Given the description of an element on the screen output the (x, y) to click on. 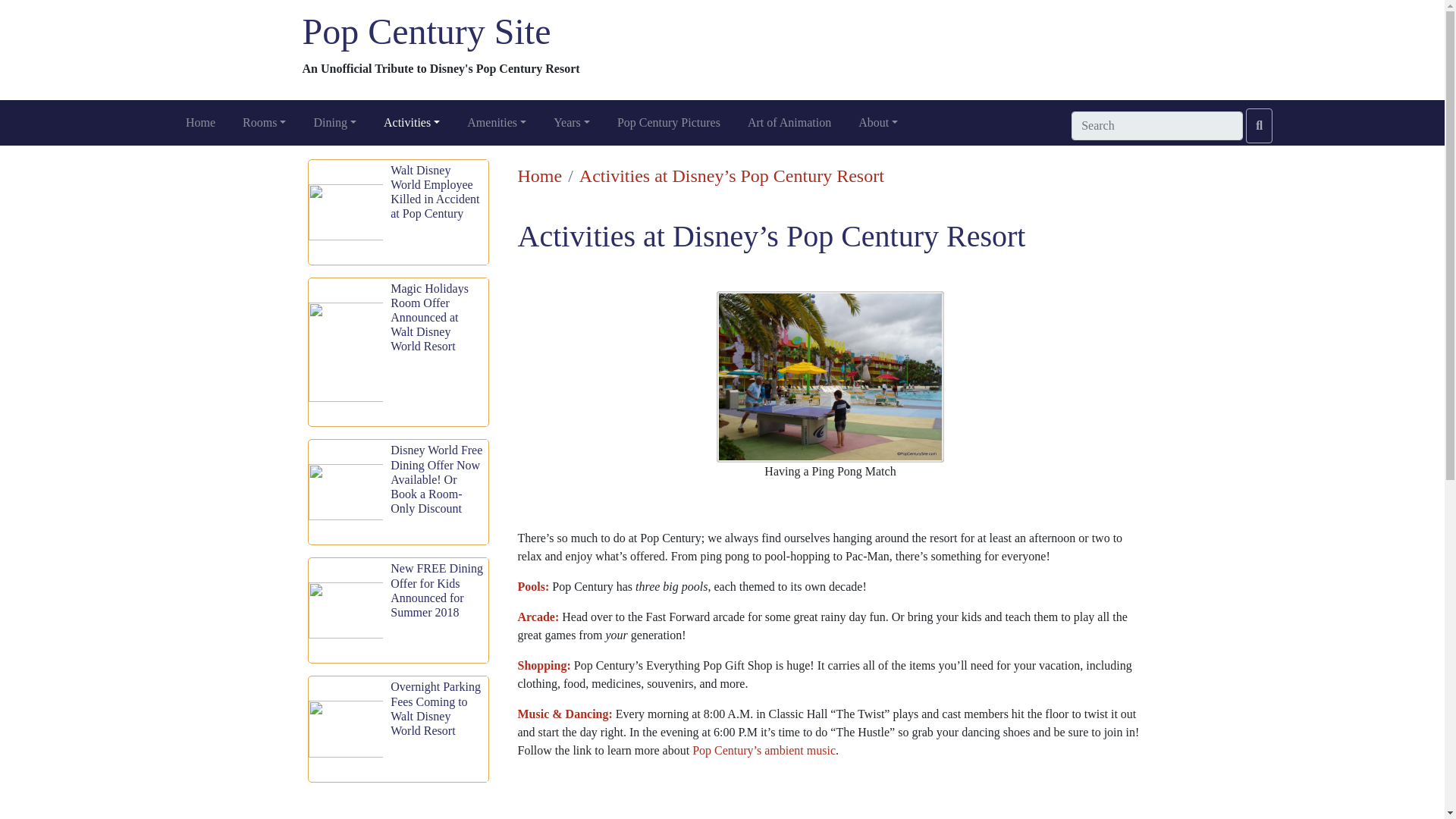
Home (539, 175)
Amenities (496, 122)
Activities (411, 122)
Walt Disney World Employee Killed in Accident at Pop Century (397, 211)
Art of Animation (789, 122)
Pop Century Pictures (668, 122)
Pop Century Site (425, 31)
Walt Disney World Employee Killed in Accident at Pop Century (397, 211)
New FREE Dining Offer for Kids Announced for Summer 2018 (397, 610)
About (877, 122)
Dining (334, 122)
Rooms (263, 122)
